Given the description of an element on the screen output the (x, y) to click on. 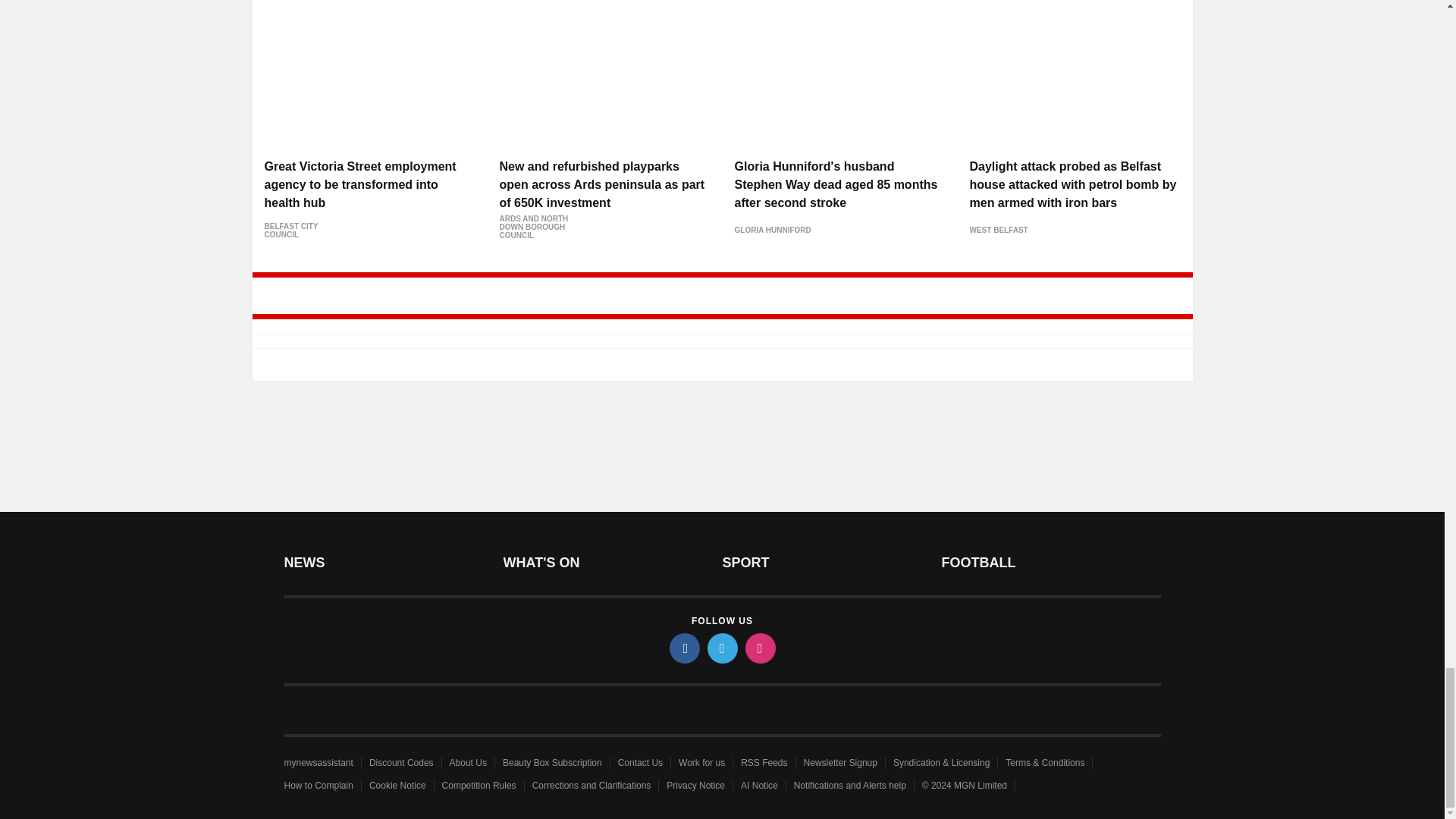
facebook (683, 647)
twitter (721, 647)
instagram (759, 647)
